Given the description of an element on the screen output the (x, y) to click on. 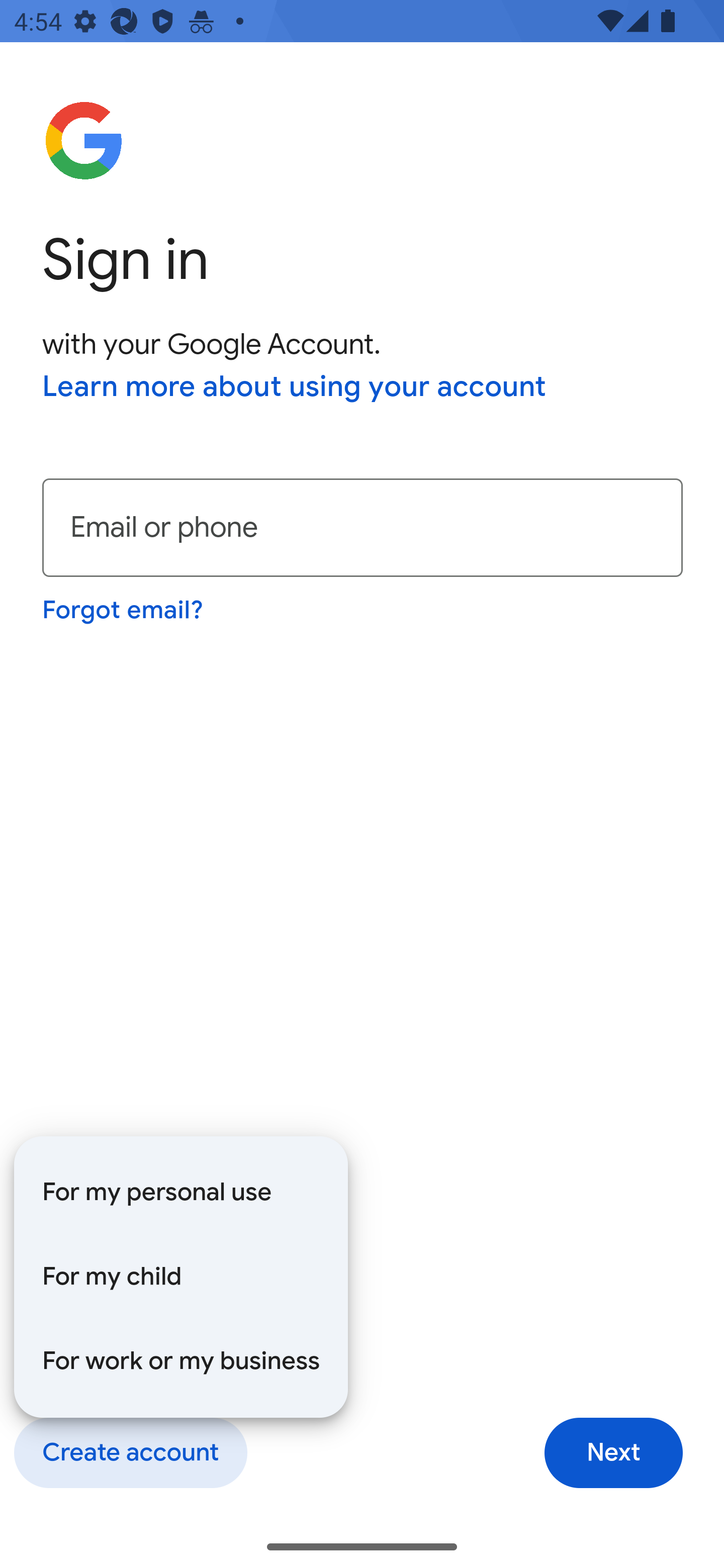
Learn more about using your account (294, 388)
Forgot email? (123, 609)
Next (613, 1453)
Create account (129, 1453)
